Given the description of an element on the screen output the (x, y) to click on. 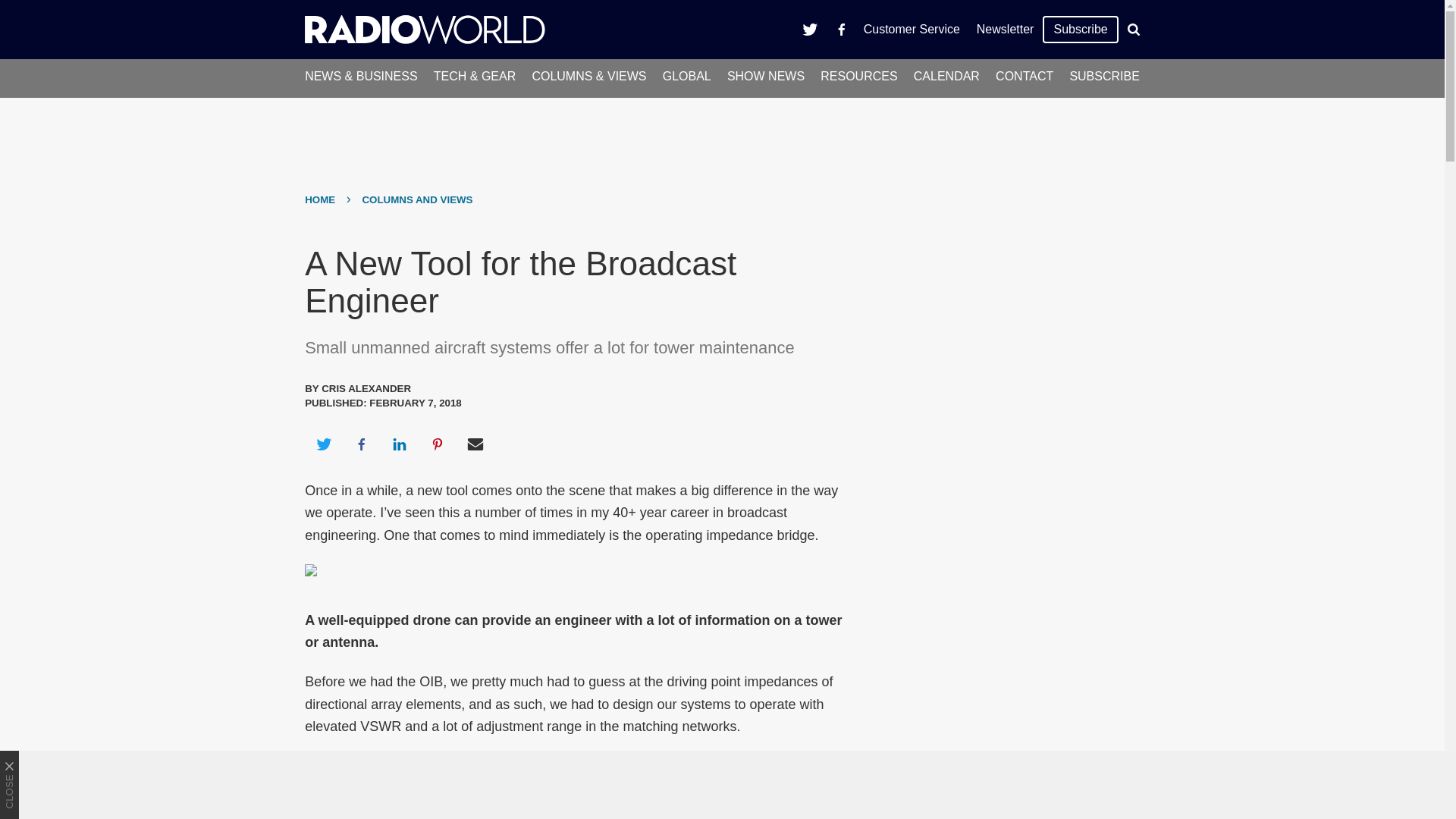
Share on Facebook (361, 444)
Share on Pinterest (438, 444)
Share on Twitter (323, 444)
Share via Email (476, 444)
Share on LinkedIn (399, 444)
Customer Service (912, 29)
